Given the description of an element on the screen output the (x, y) to click on. 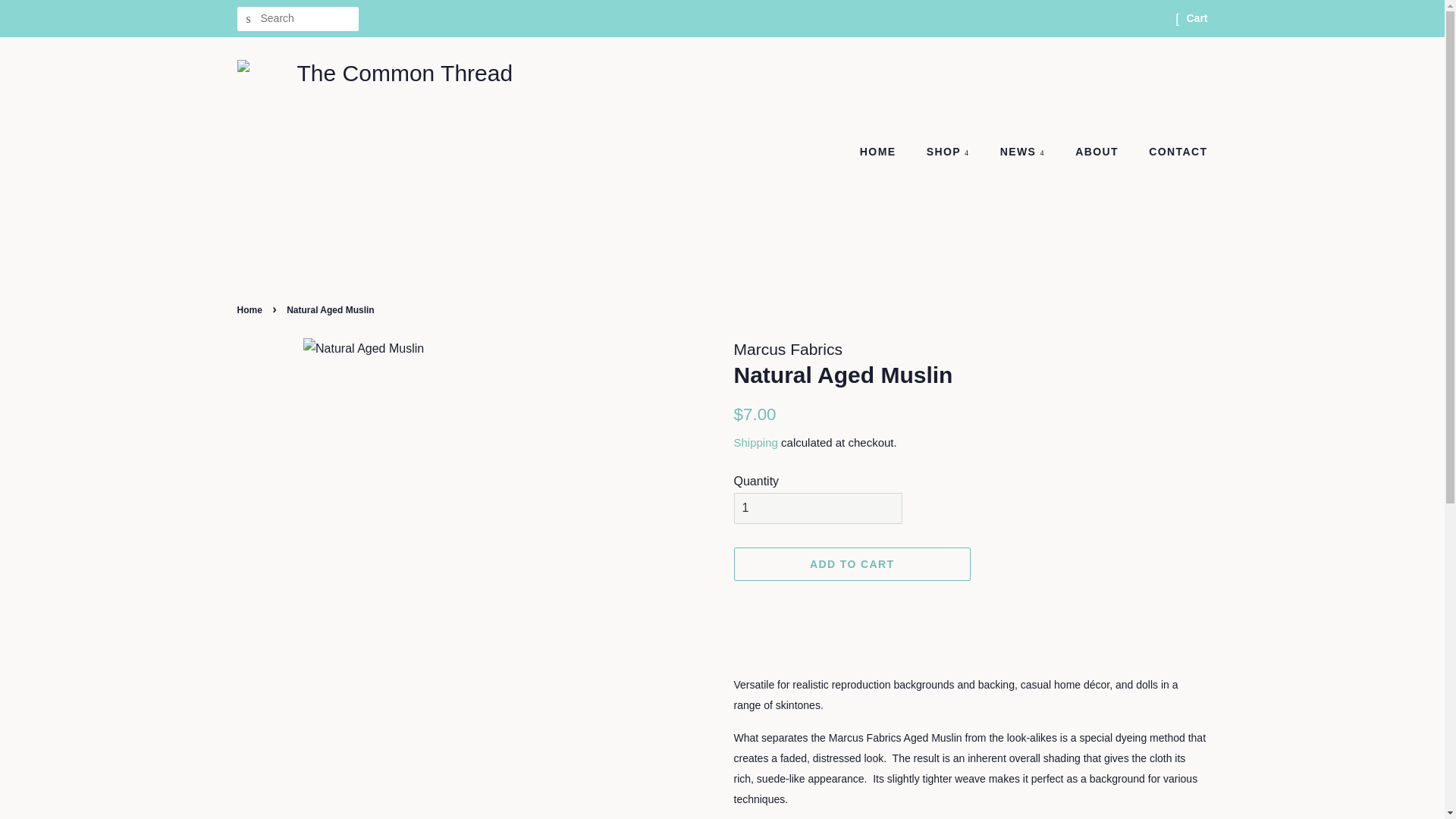
SHOP (950, 152)
SEARCH (247, 18)
Back to the frontpage (249, 309)
HOME (885, 152)
Cart (1196, 18)
1 (817, 508)
